Given the description of an element on the screen output the (x, y) to click on. 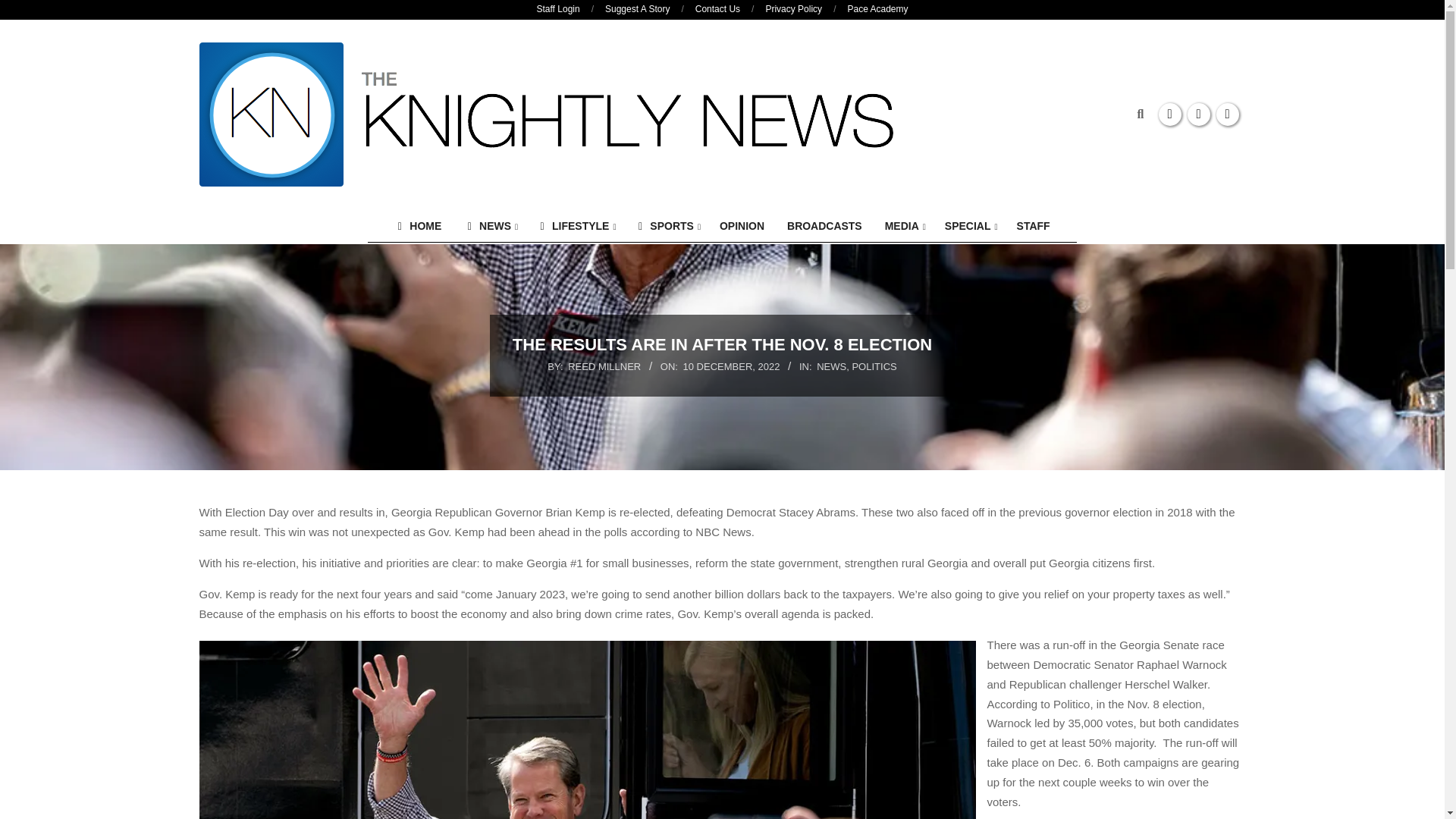
Suggest A Story (637, 9)
SPECIAL (969, 225)
NEWS (488, 225)
Staff Login (557, 9)
OPINION (741, 225)
Posts by Reed Millner (603, 366)
LIFESTYLE (574, 225)
SPORTS (665, 225)
HOME (417, 225)
Privacy Policy (793, 9)
MEDIA (903, 225)
Pace Academy (877, 9)
Saturday, December 10, 2022, 7:28 am (731, 366)
Contact Us (717, 9)
